Given the description of an element on the screen output the (x, y) to click on. 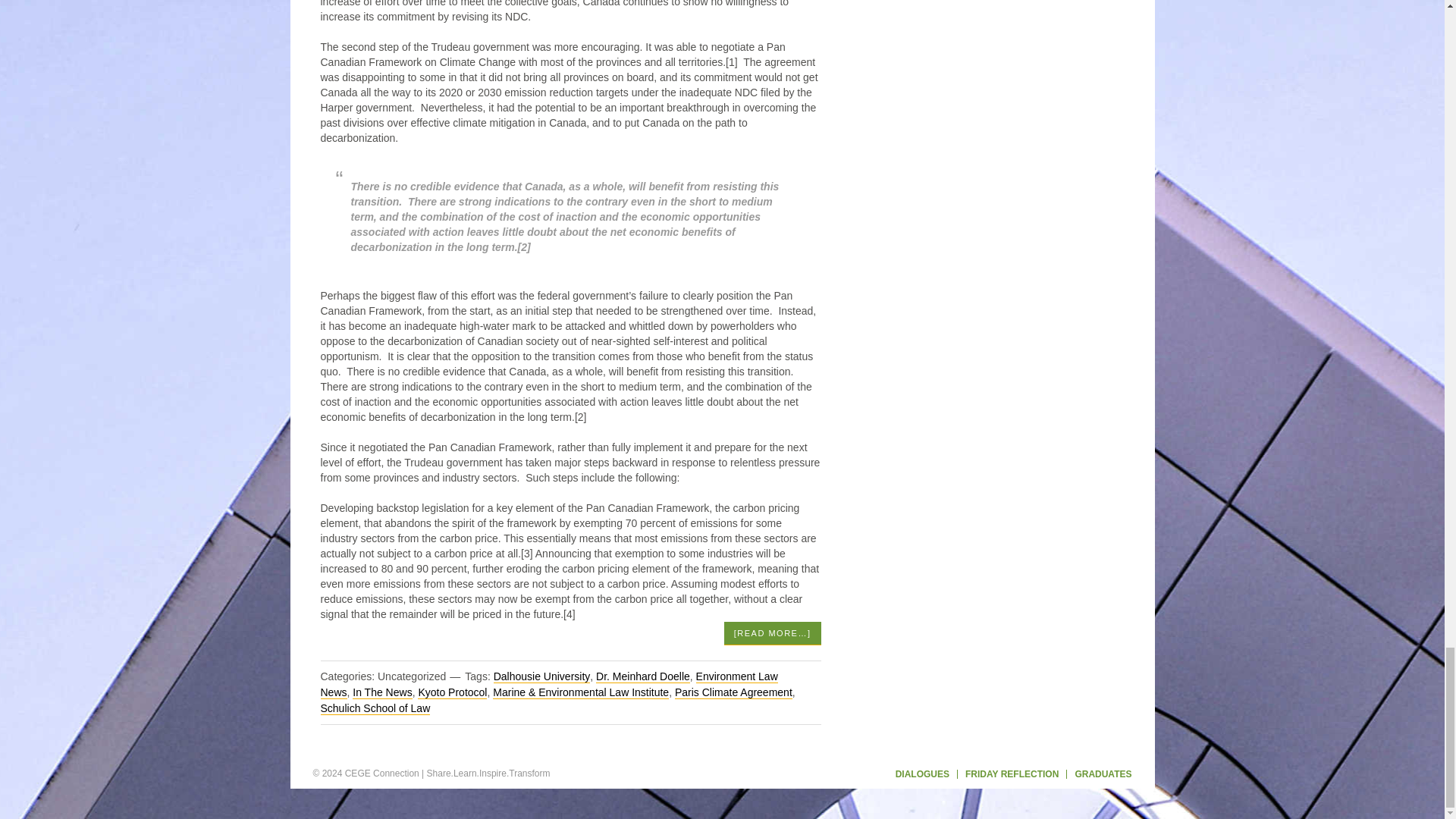
Dalhousie University (542, 676)
